Given the description of an element on the screen output the (x, y) to click on. 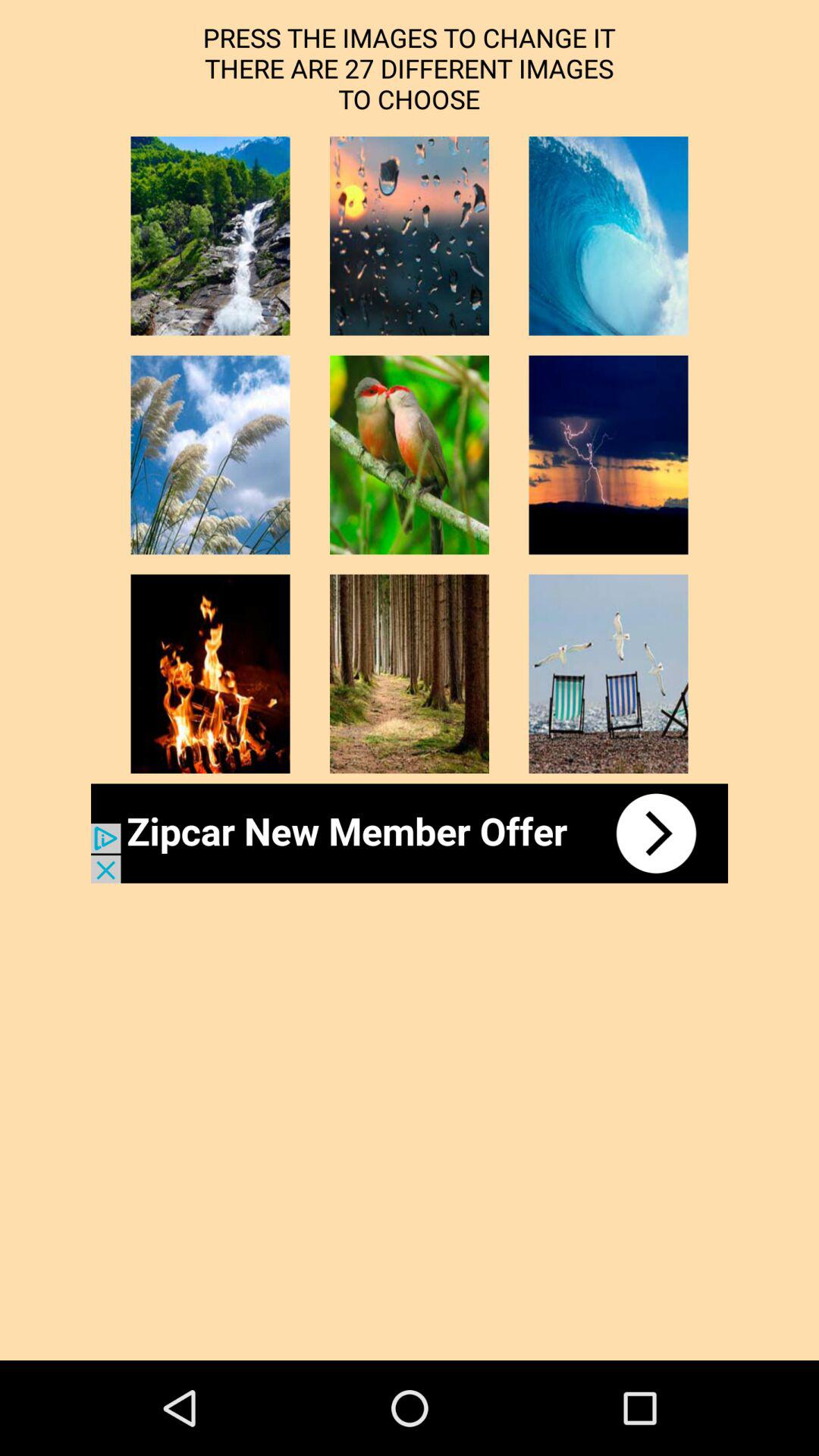
choose another image (608, 454)
